Given the description of an element on the screen output the (x, y) to click on. 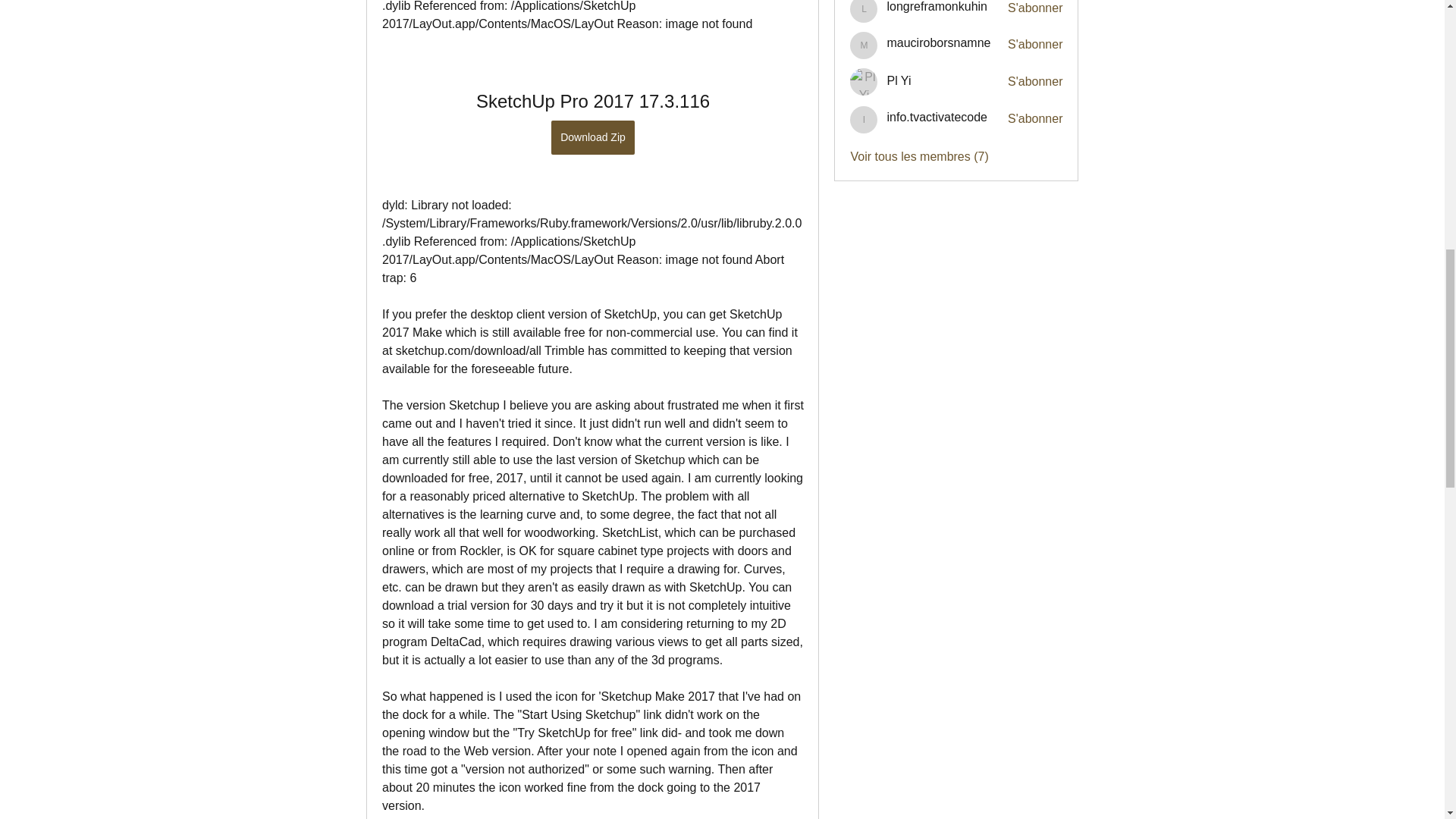
S'abonner (1034, 8)
Download Zip (592, 137)
mauciroborsnamne (938, 43)
mauciroborsnamne (863, 44)
mauciroborsnamne (938, 43)
longreframonkuhin (936, 7)
S'abonner (1034, 81)
S'abonner (1034, 44)
info.tvactivatecode (863, 119)
longreframonkuhin (936, 7)
